Given the description of an element on the screen output the (x, y) to click on. 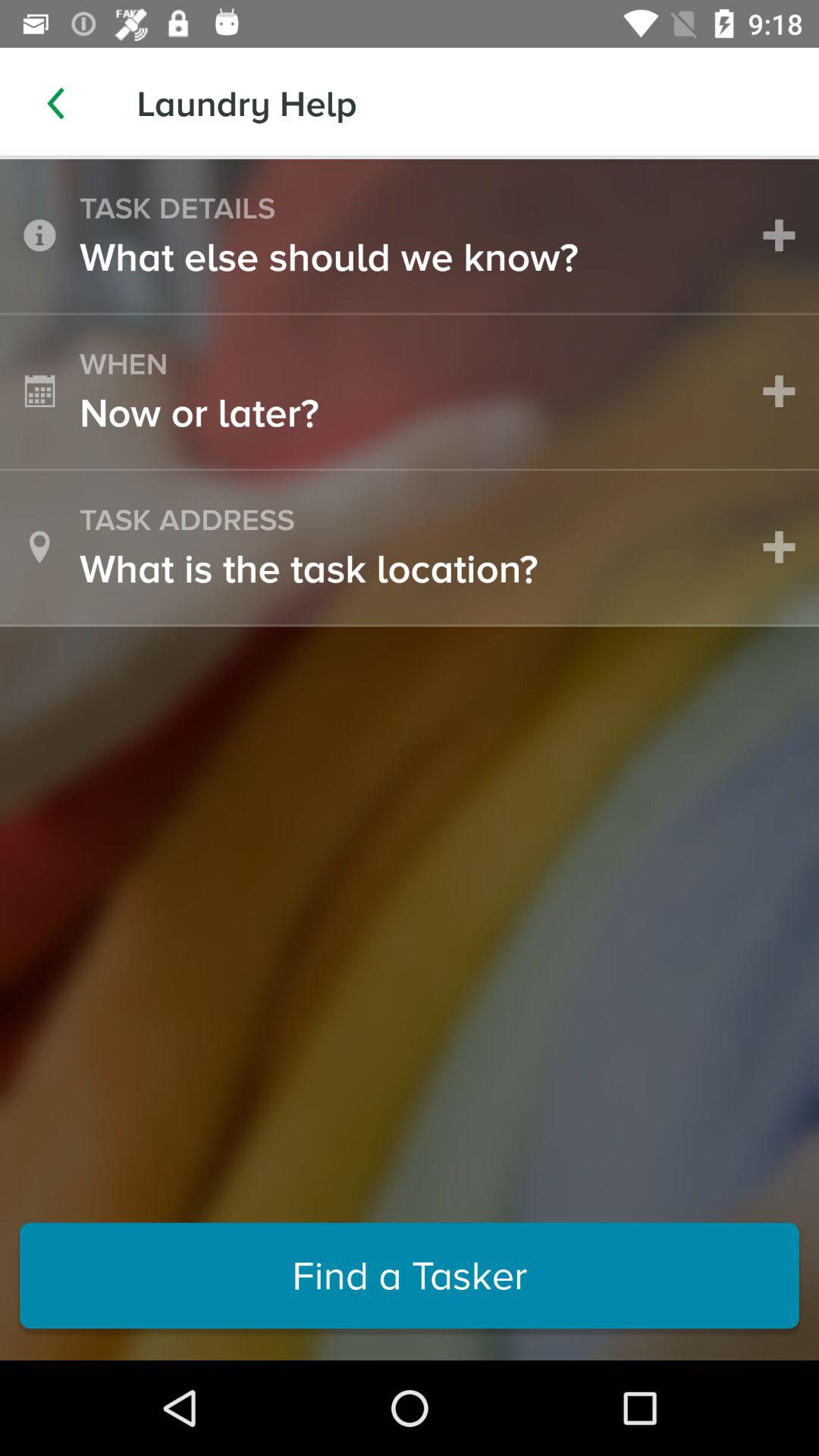
click on the last option (409, 1276)
